Given the description of an element on the screen output the (x, y) to click on. 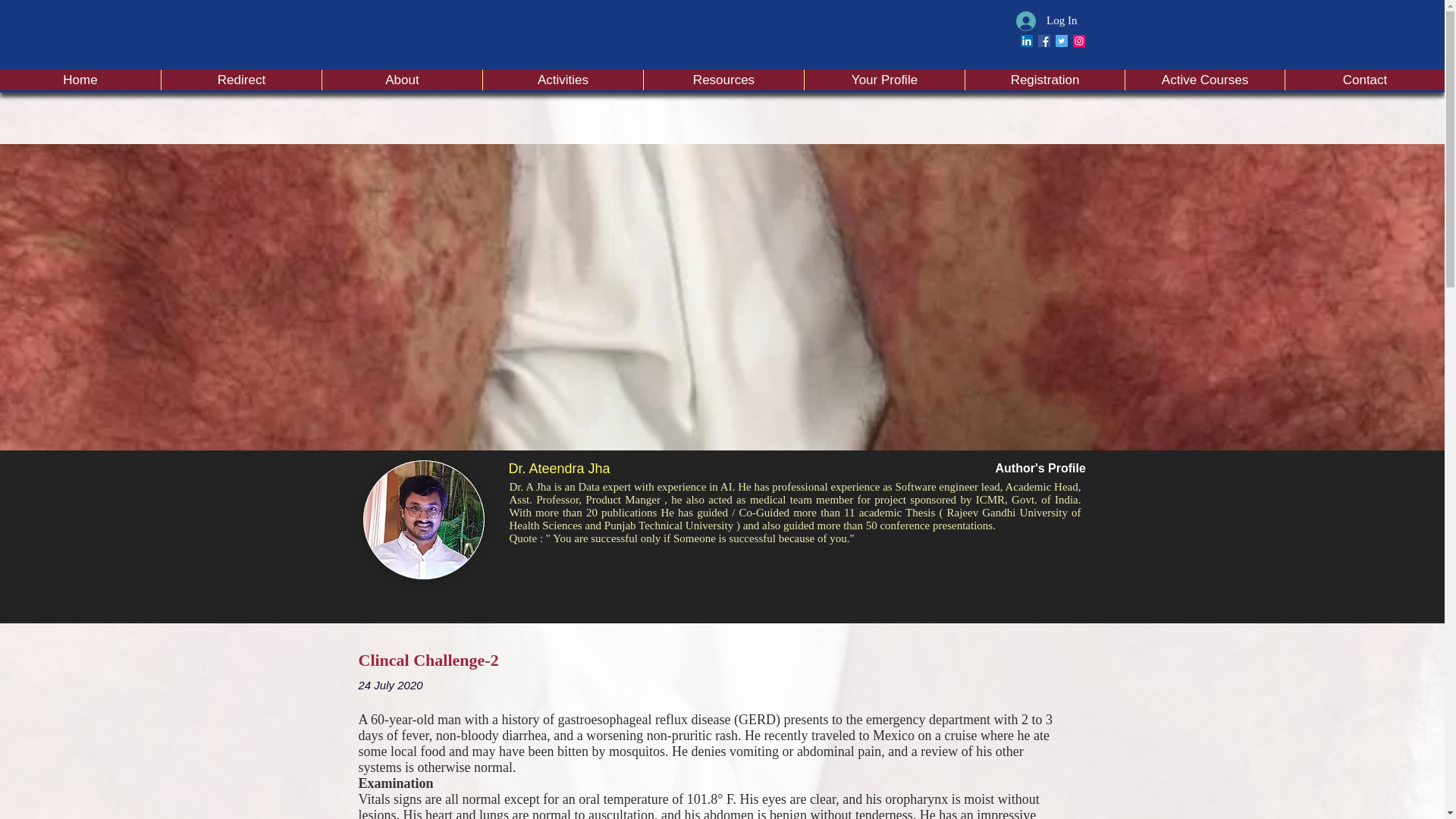
Log In (1046, 20)
Home (80, 79)
Redirect (240, 79)
Activities (562, 79)
Active Courses (1204, 79)
Author's Profile (1039, 468)
Registration (1043, 79)
About (401, 79)
Your Profile (883, 79)
Resources (723, 79)
